Given the description of an element on the screen output the (x, y) to click on. 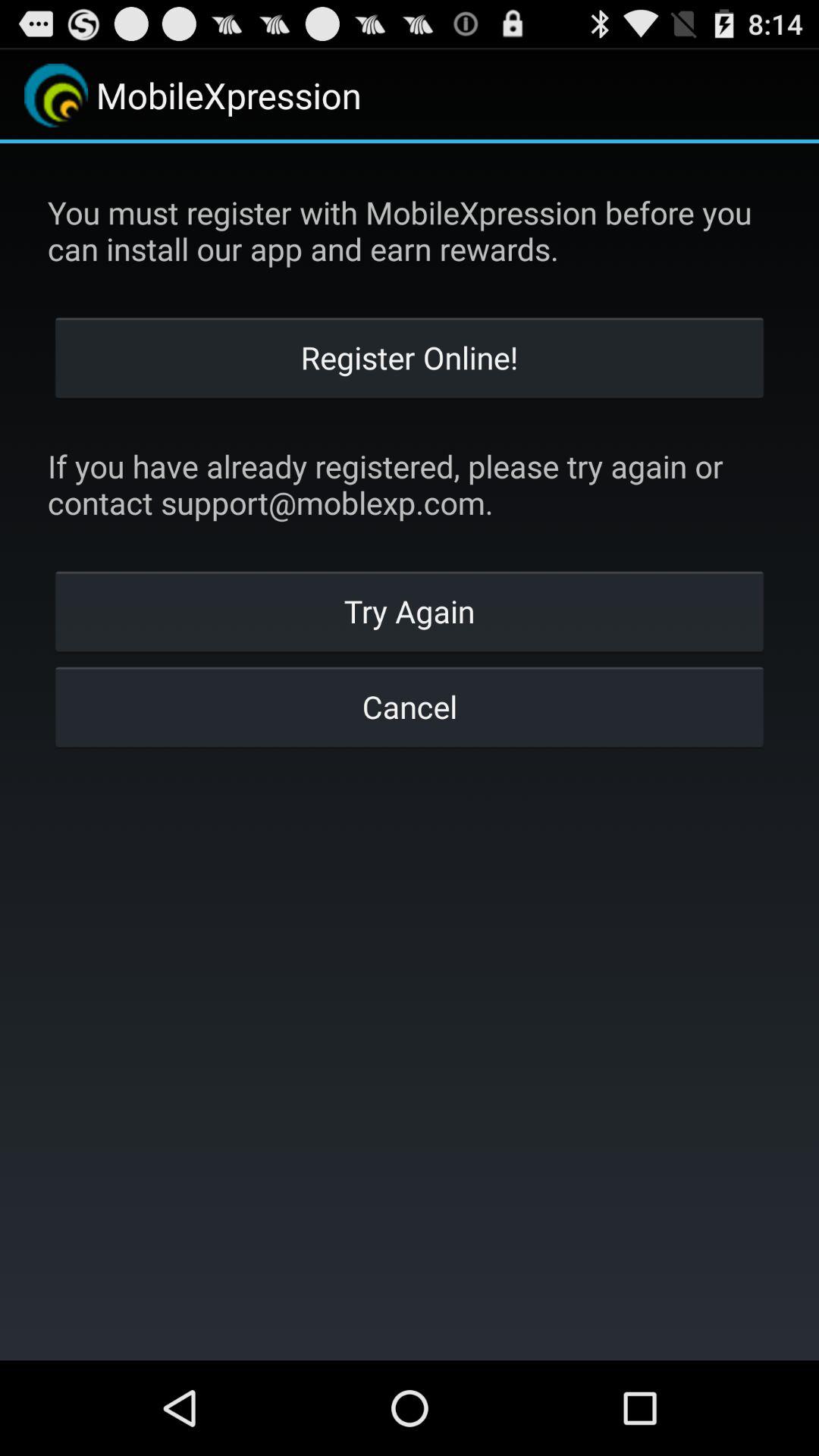
click the register online! (409, 356)
